Given the description of an element on the screen output the (x, y) to click on. 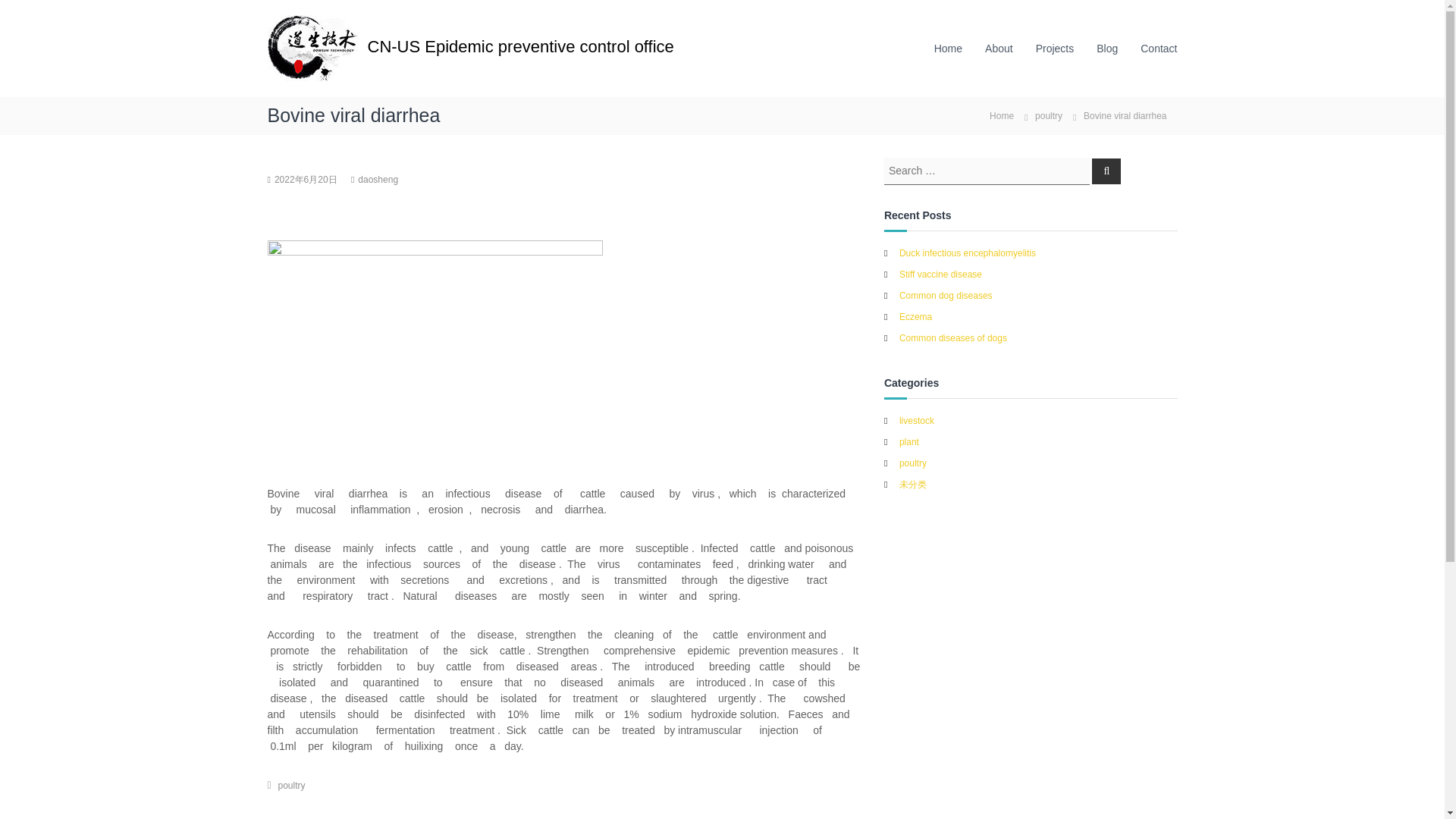
CN-US Epidemic preventive control office (519, 46)
livestock (916, 420)
poultry (912, 462)
Projects (1054, 48)
poultry (291, 784)
Home (1001, 114)
About (999, 48)
Duck infectious encephalomyelitis (967, 252)
Search (1106, 170)
daosheng (377, 179)
plant (908, 441)
Home (948, 48)
Eczema (915, 316)
poultry (1048, 115)
Home (1001, 114)
